Given the description of an element on the screen output the (x, y) to click on. 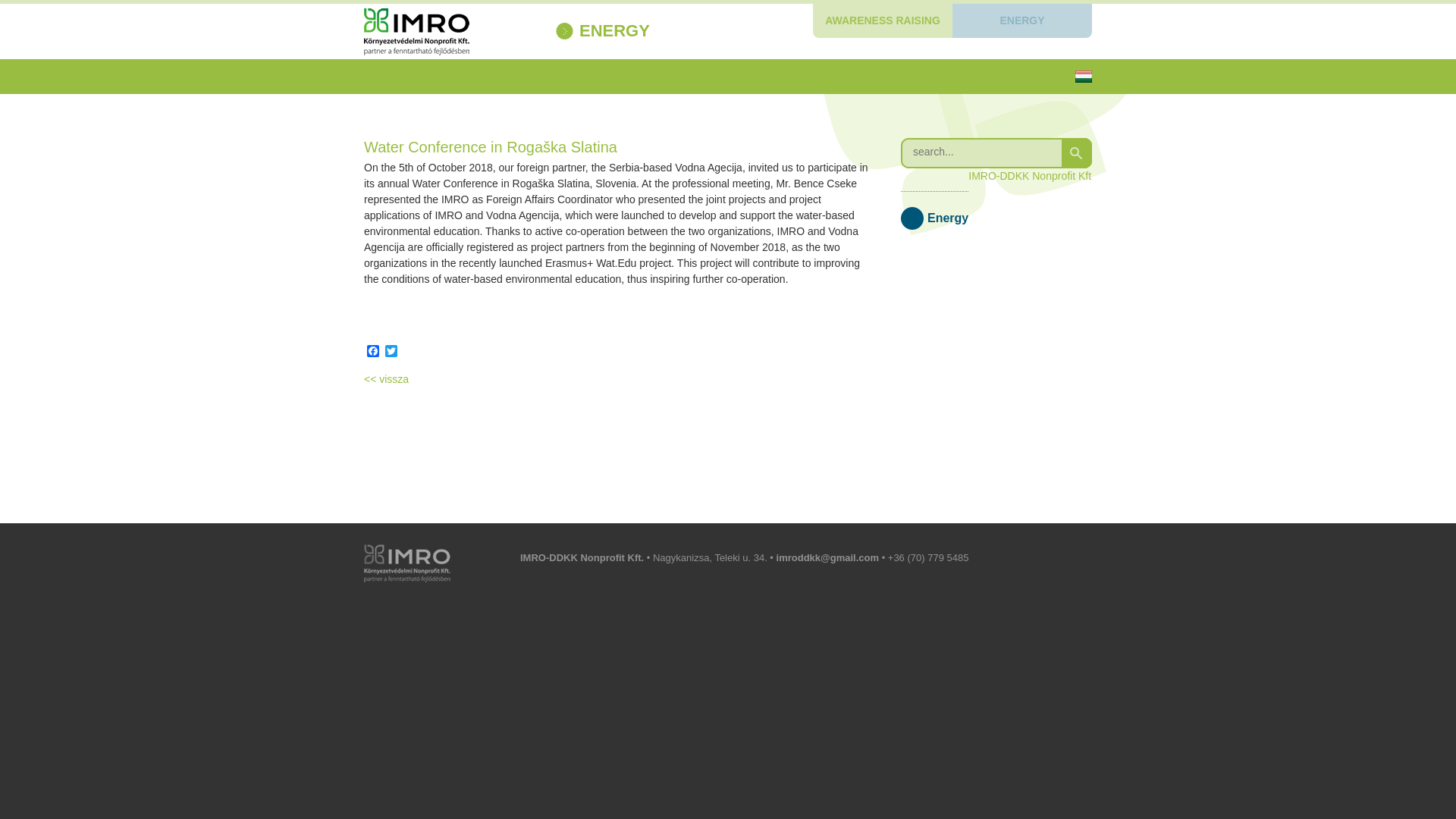
Facebook (372, 351)
Twitter (390, 351)
Twitter (390, 351)
Facebook (372, 351)
IMRO-DDKK Nonprofit Kft (1029, 175)
AWARENESS RAISING (882, 20)
